Given the description of an element on the screen output the (x, y) to click on. 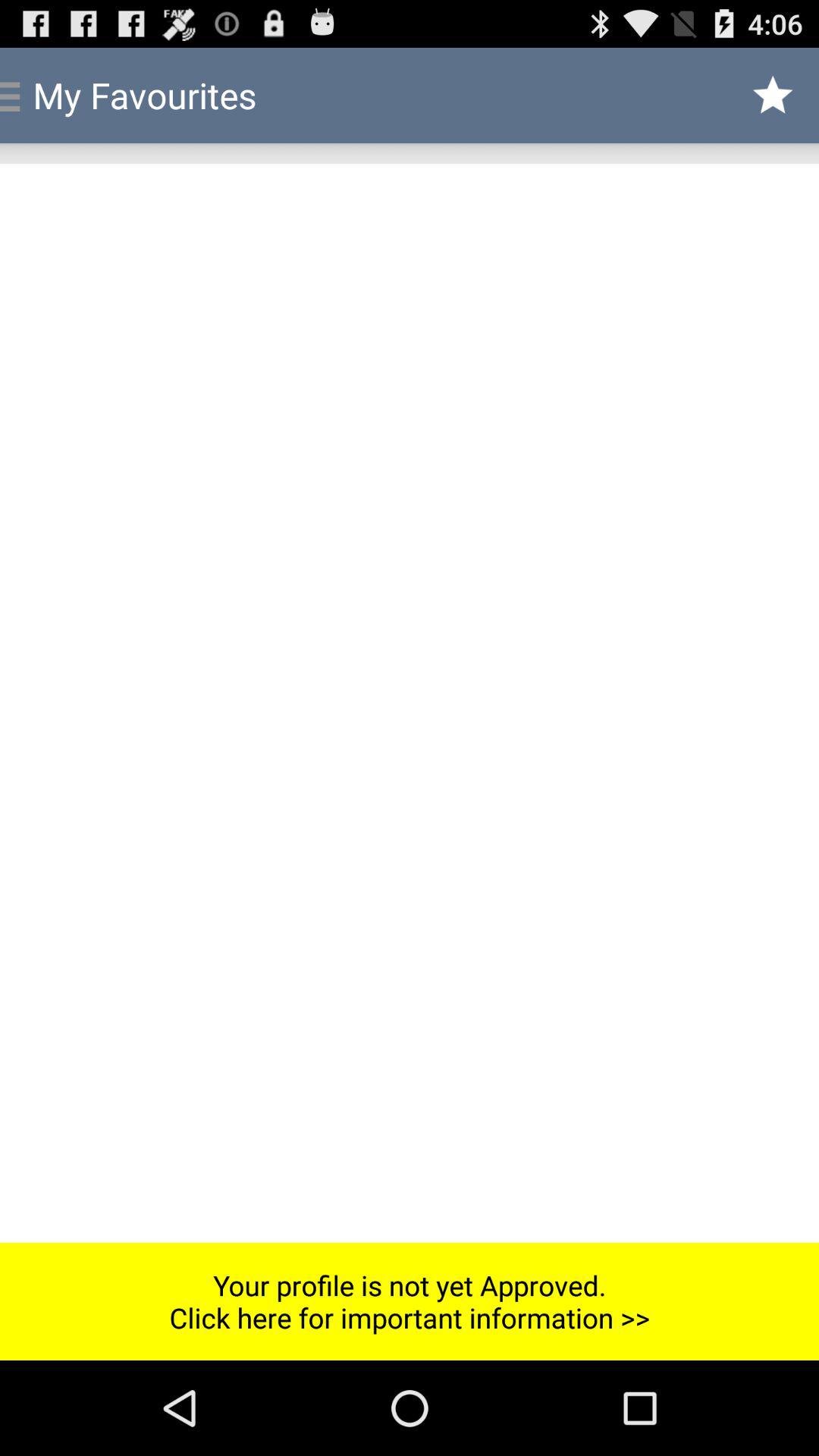
tap the icon at the top right corner (773, 95)
